Given the description of an element on the screen output the (x, y) to click on. 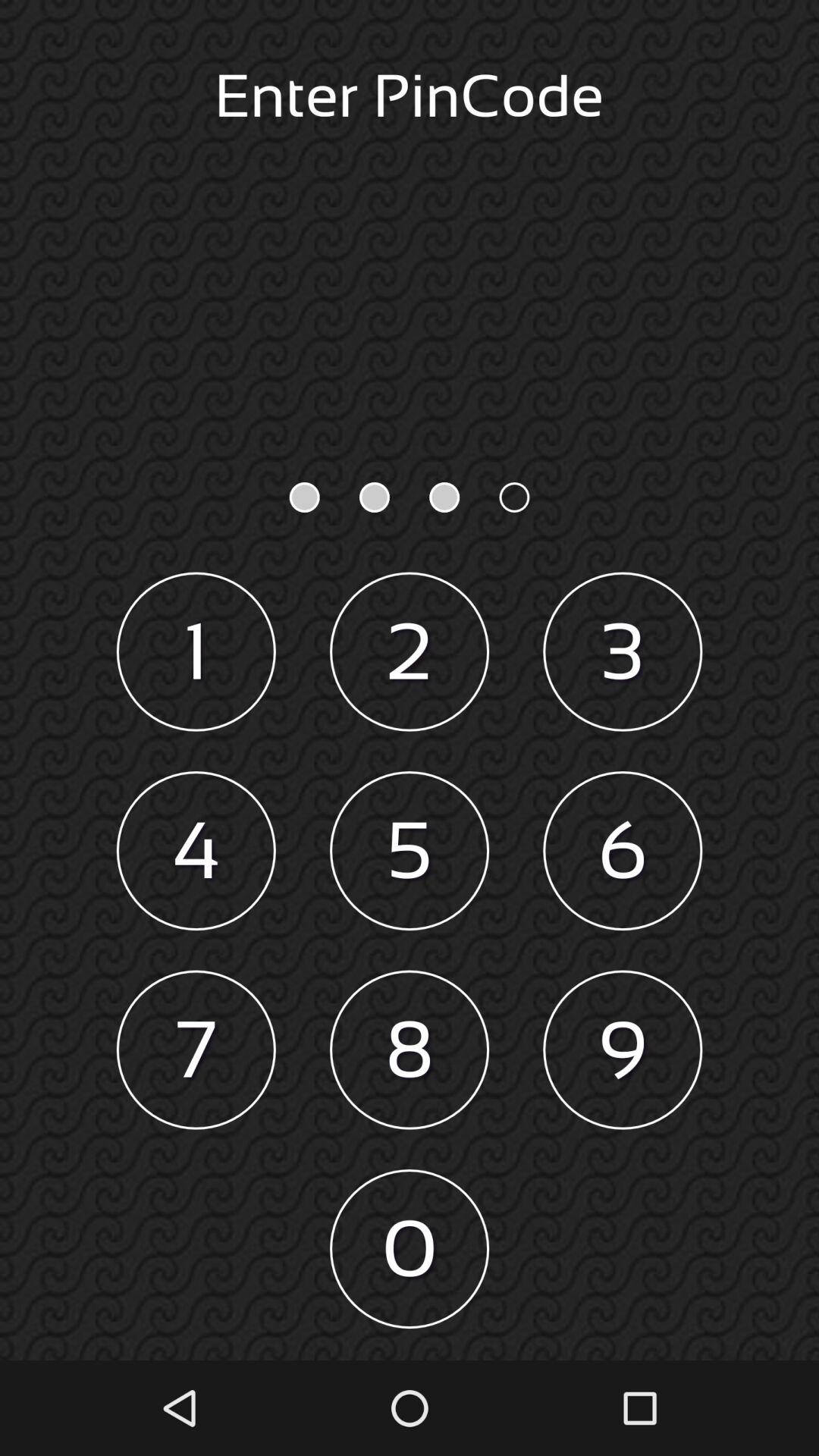
click the item below the 2 item (409, 850)
